Given the description of an element on the screen output the (x, y) to click on. 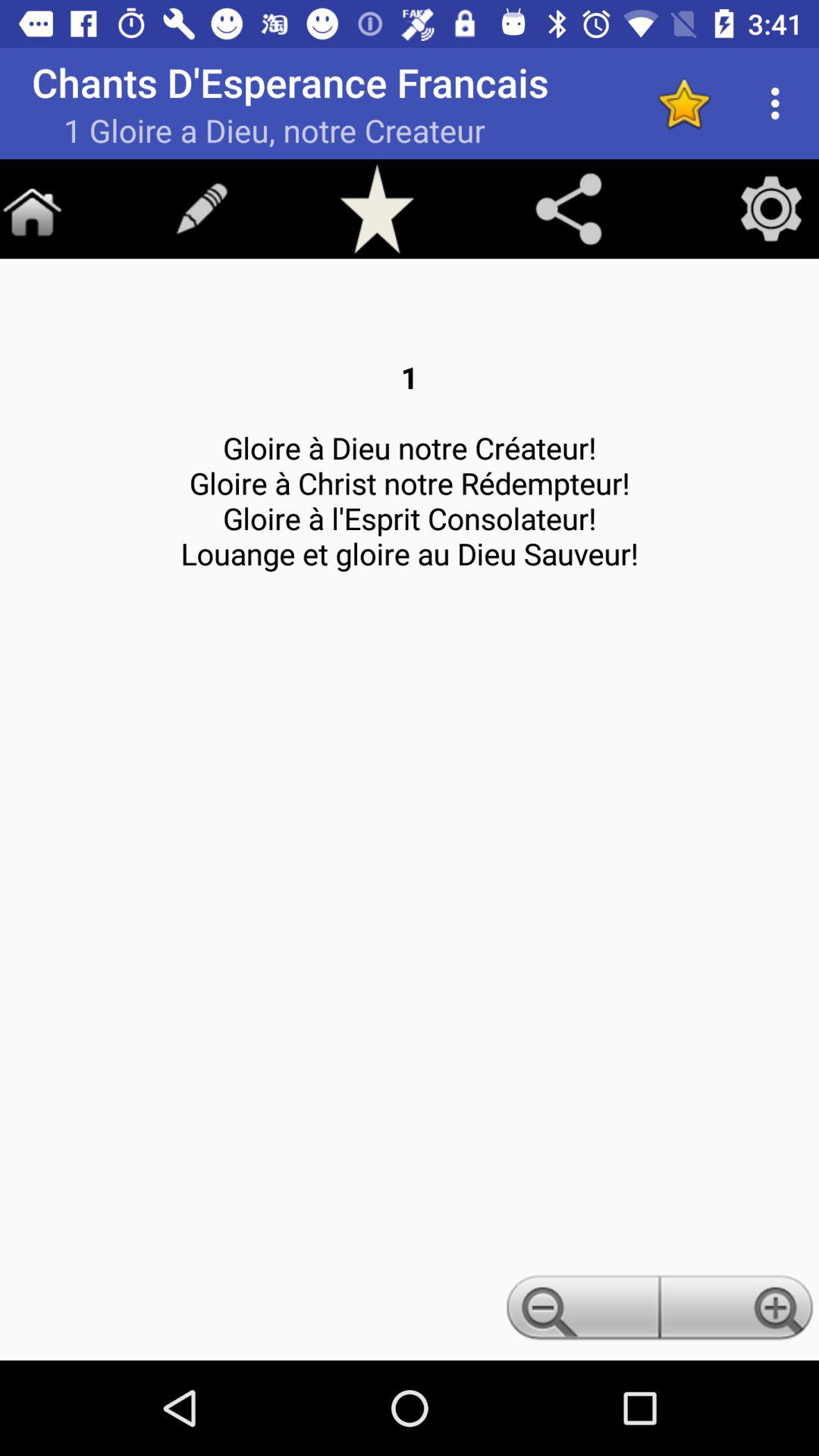
open settings (771, 208)
